Given the description of an element on the screen output the (x, y) to click on. 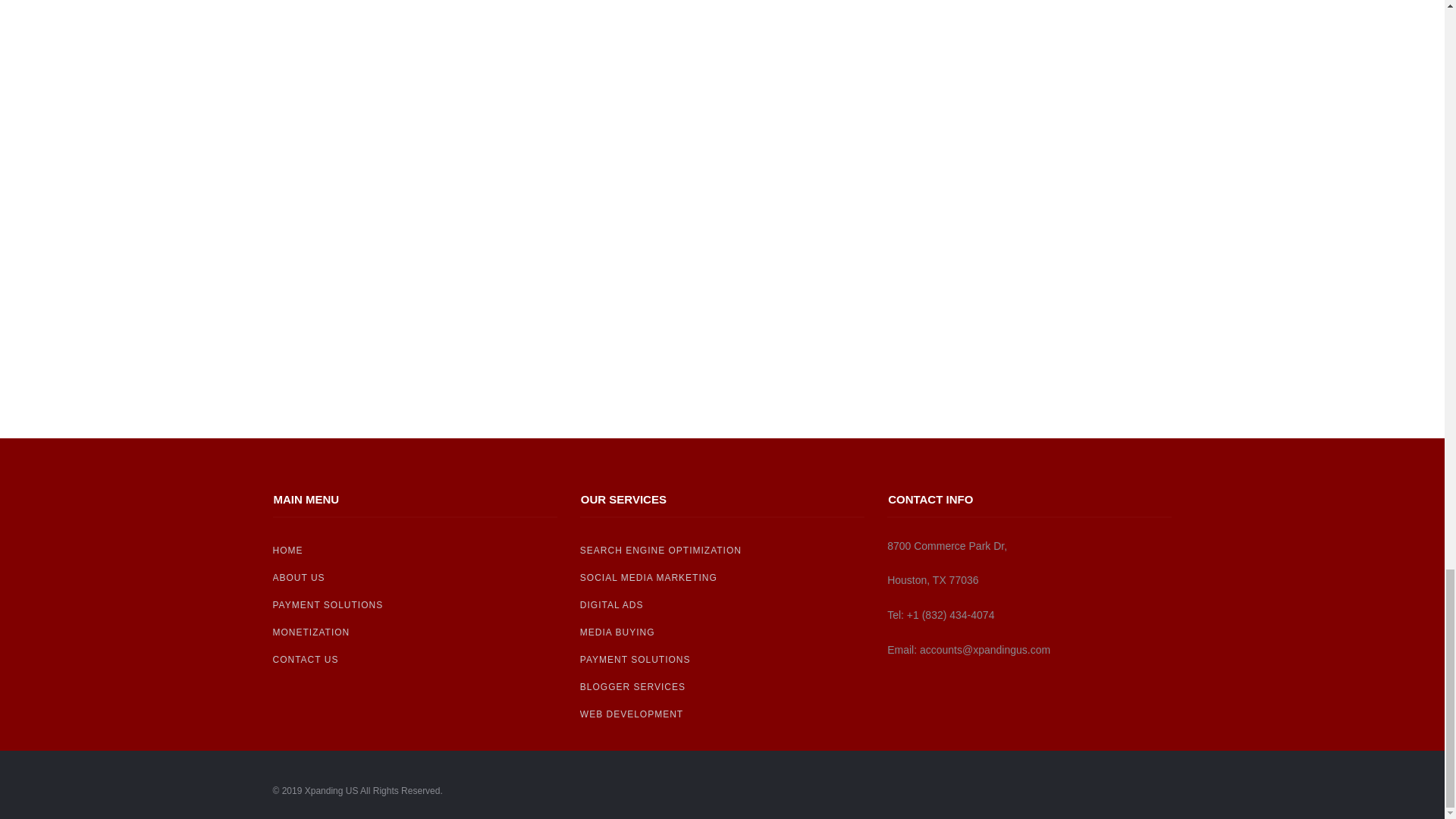
ABOUT US (415, 577)
PAYMENT SOLUTIONS (415, 605)
HOME (415, 550)
